Given the description of an element on the screen output the (x, y) to click on. 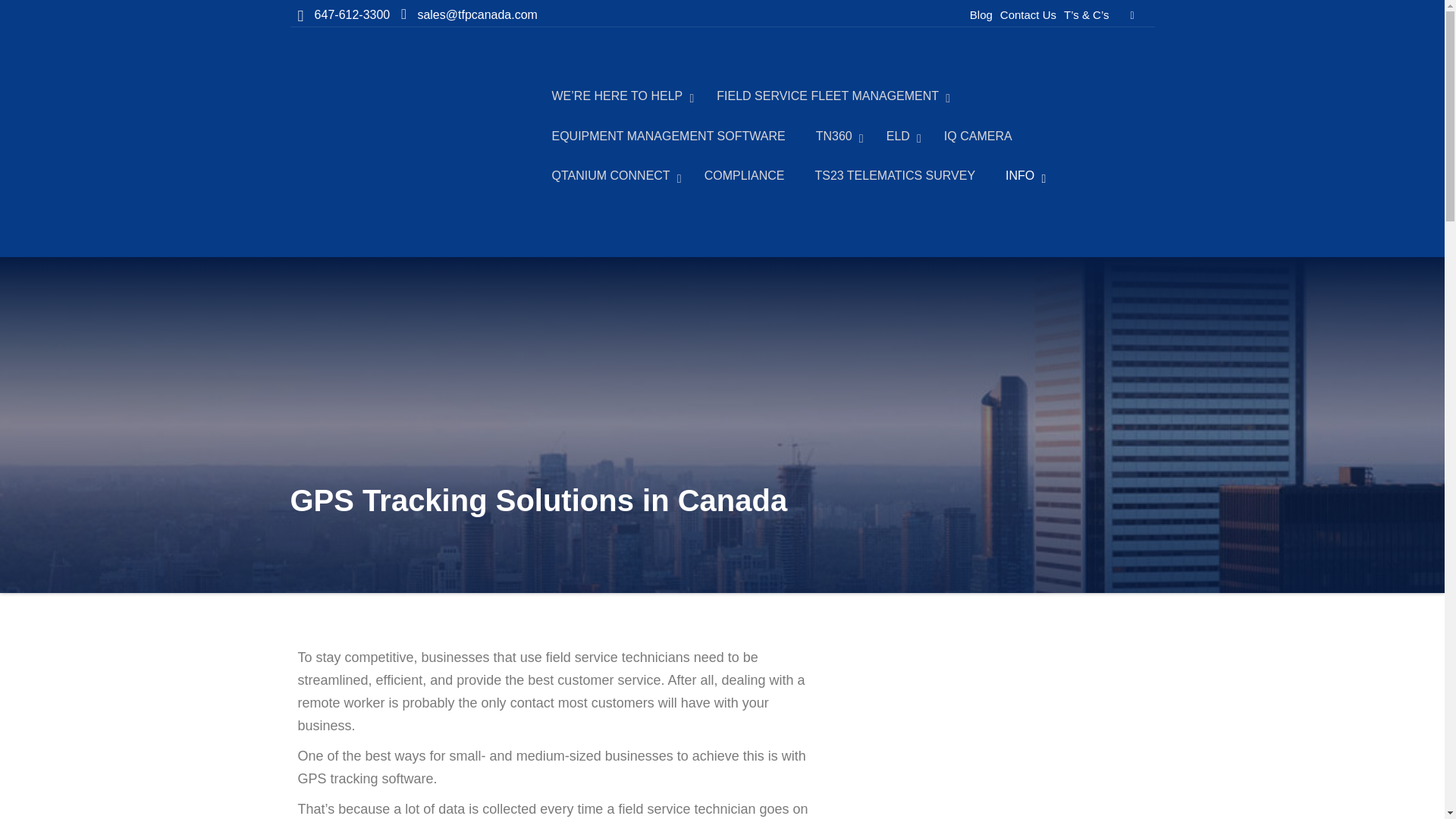
Blog (980, 13)
IQ CAMERA (977, 137)
EQUIPMENT MANAGEMENT SOFTWARE (668, 137)
ELD (899, 137)
TN360 (835, 137)
TS23 TELEMATICS SURVEY (894, 177)
647-612-3300 (350, 15)
FIELD SERVICE FLEET MANAGEMENT (829, 96)
COMPLIANCE (743, 177)
QTANIUM CONNECT (612, 177)
